Given the description of an element on the screen output the (x, y) to click on. 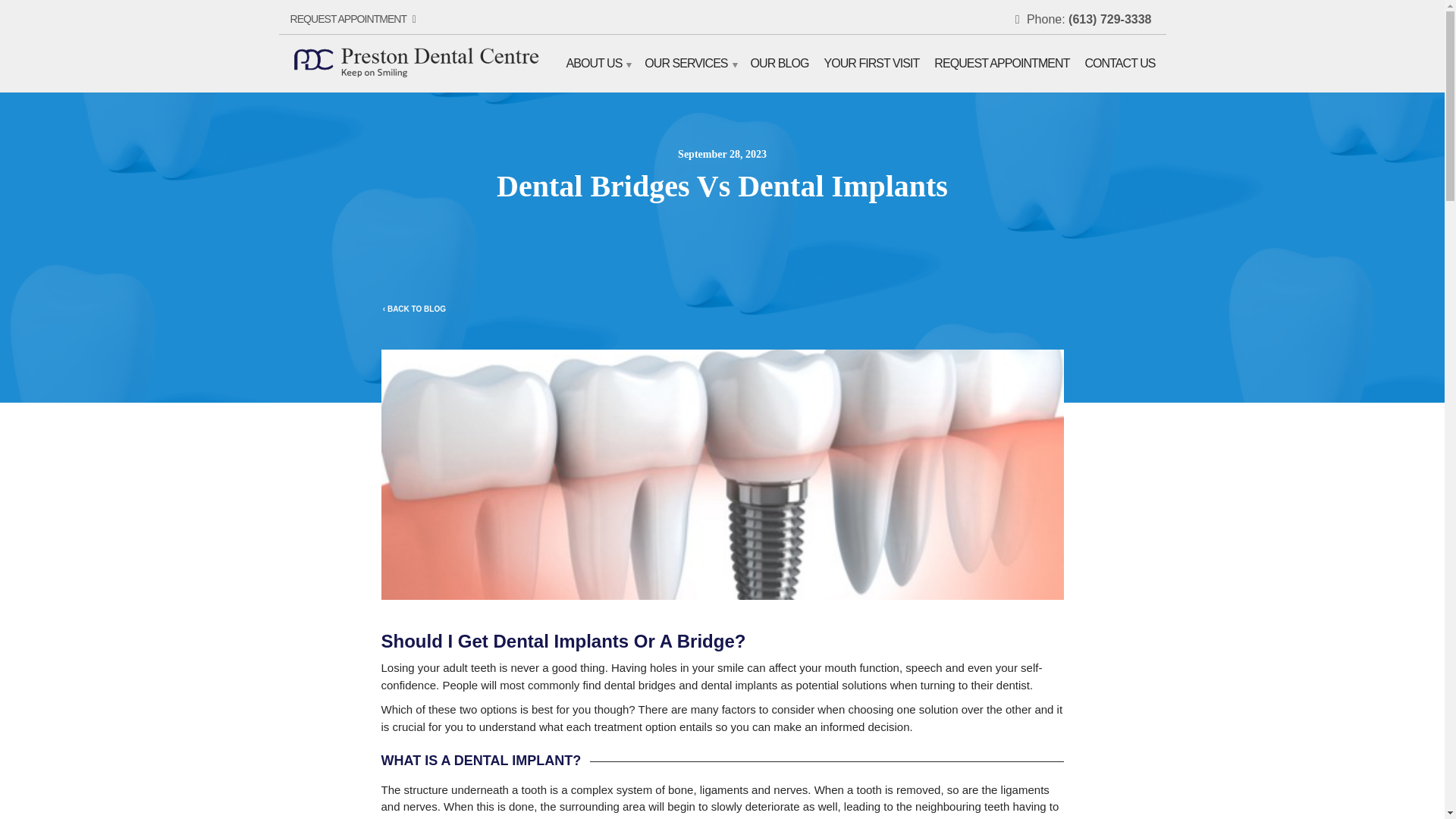
REQUEST APPOINTMENT (351, 18)
REQUEST APPOINTMENT (1001, 62)
CONTACT US (1119, 62)
YOUR FIRST VISIT (870, 62)
OUR BLOG (779, 62)
Our Services (689, 62)
About Us (597, 62)
OUR SERVICES (689, 62)
ABOUT US (597, 62)
